Given the description of an element on the screen output the (x, y) to click on. 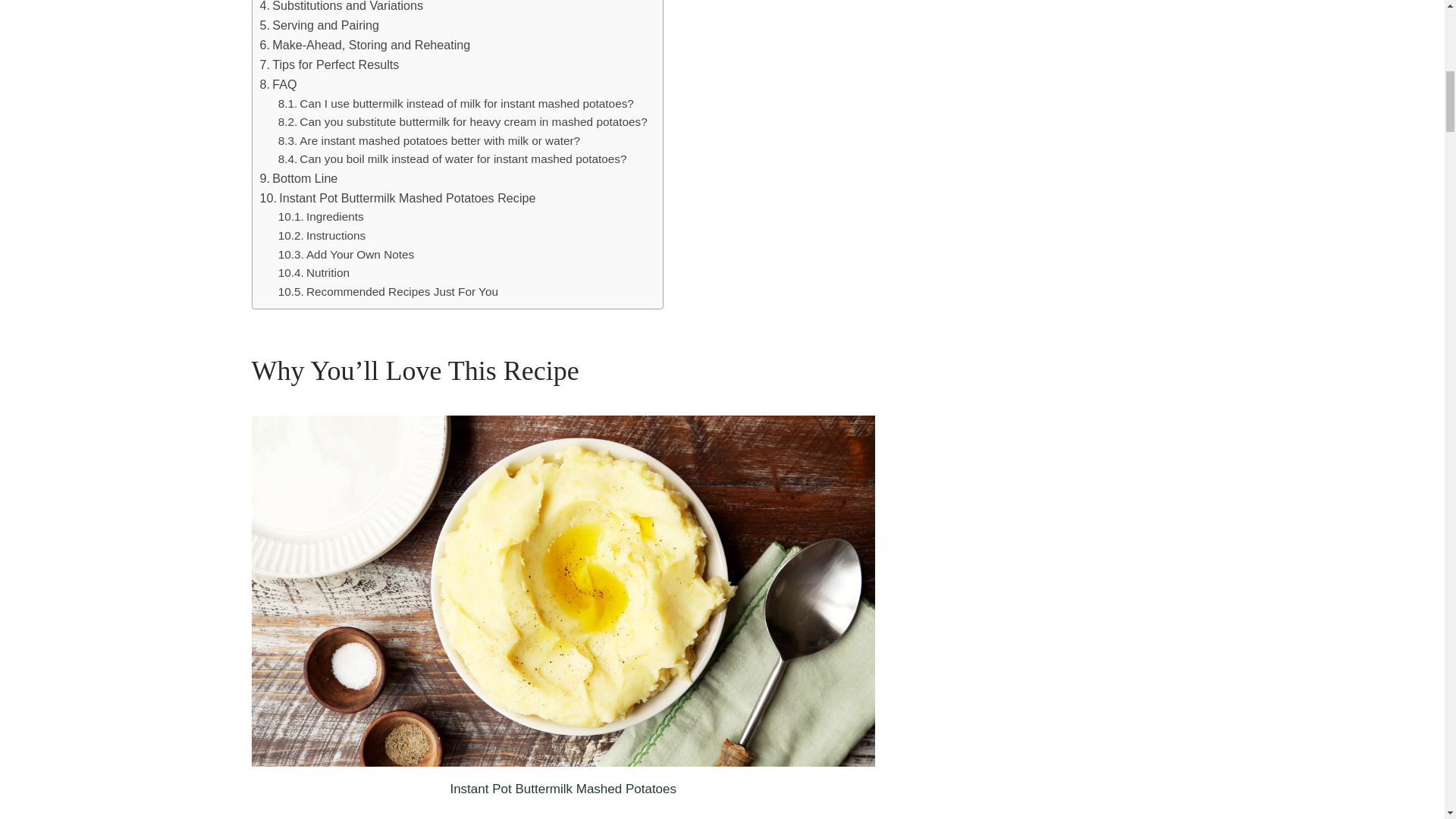
Add Your Own Notes (345, 254)
Are instant mashed potatoes better with milk or water? (428, 140)
Ingredients   (324, 217)
Serving and Pairing (318, 25)
Substitutions and Variations (341, 7)
Bottom Line (298, 178)
Serving and Pairing (318, 25)
Instructions  (323, 235)
Make-Ahead, Storing and Reheating (364, 45)
Add Your Own Notes (345, 254)
Make-Ahead, Storing and Reheating (364, 45)
Instant Pot Buttermilk Mashed Potatoes Recipe (397, 198)
